Given the description of an element on the screen output the (x, y) to click on. 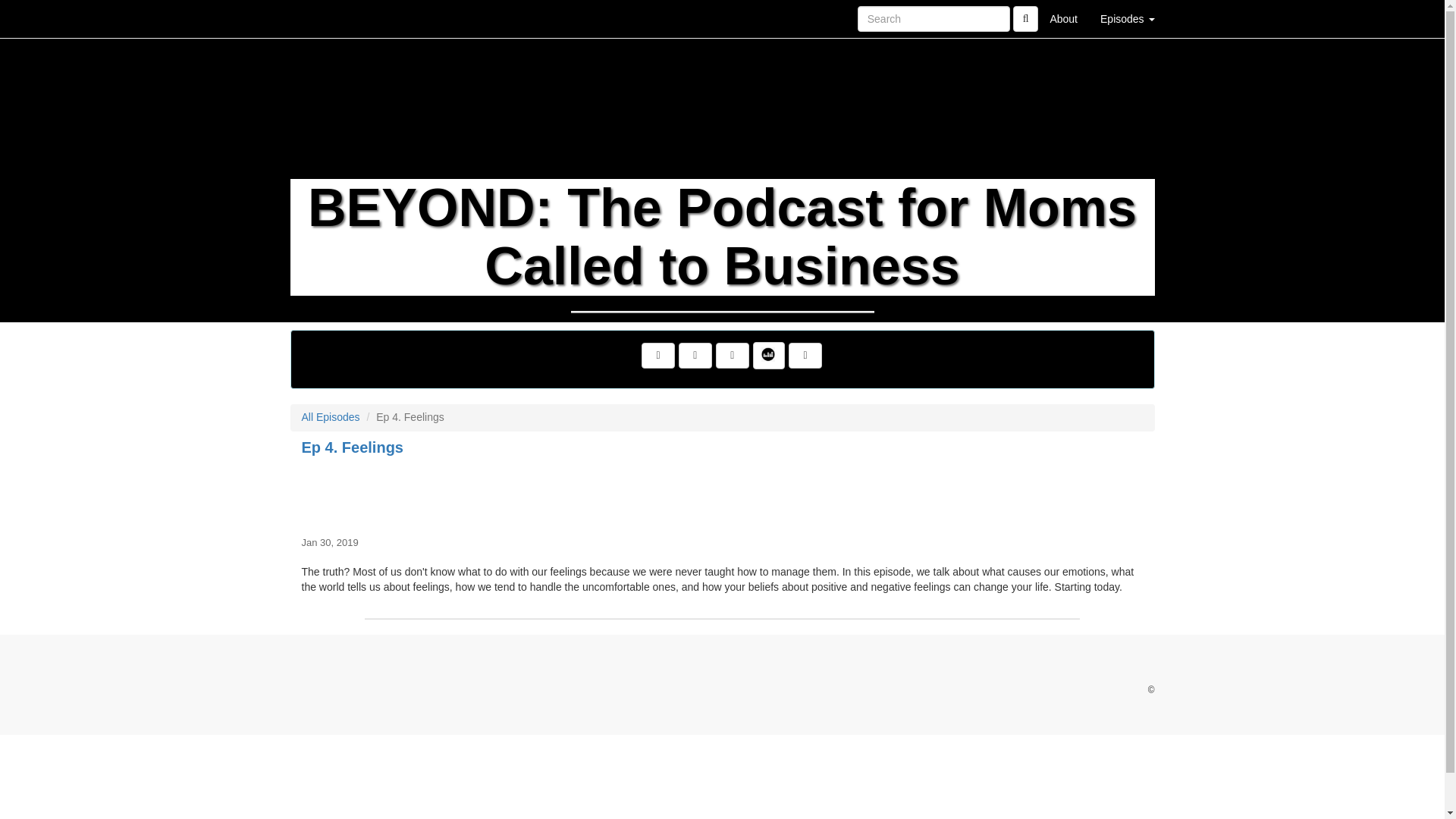
About (1063, 18)
Home Page (320, 18)
Ep 4. Feelings (721, 493)
Episodes (1127, 18)
